Given the description of an element on the screen output the (x, y) to click on. 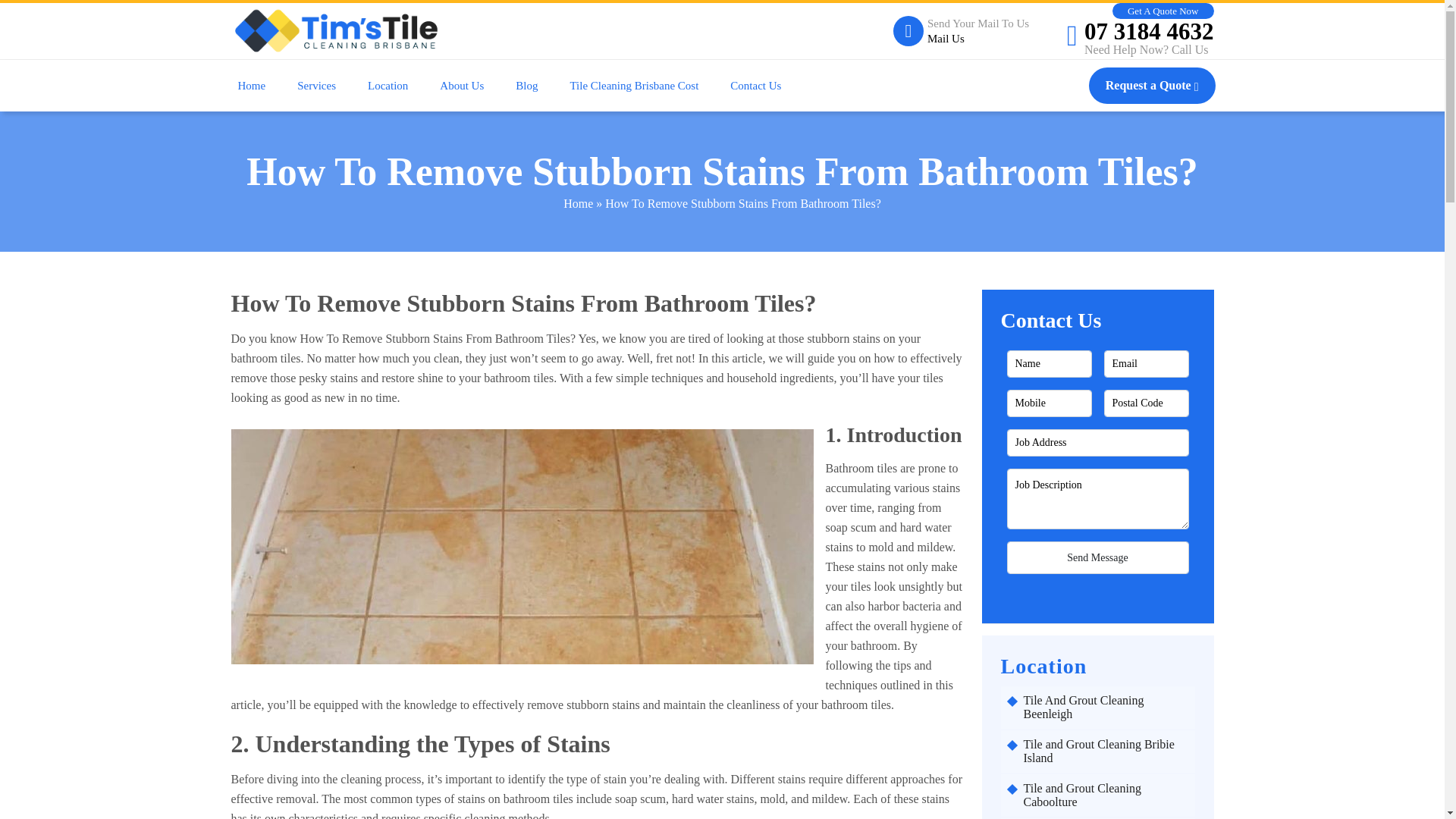
Send Message (1098, 557)
Home (577, 203)
Request a Quote (1152, 85)
About Us (462, 85)
Tile and Grout Cleaning Caboolture (1105, 795)
Home (251, 85)
Tile Cleaning Brisbane Cost (633, 85)
Services (316, 85)
Contact Us (755, 85)
Location (387, 85)
